Given the description of an element on the screen output the (x, y) to click on. 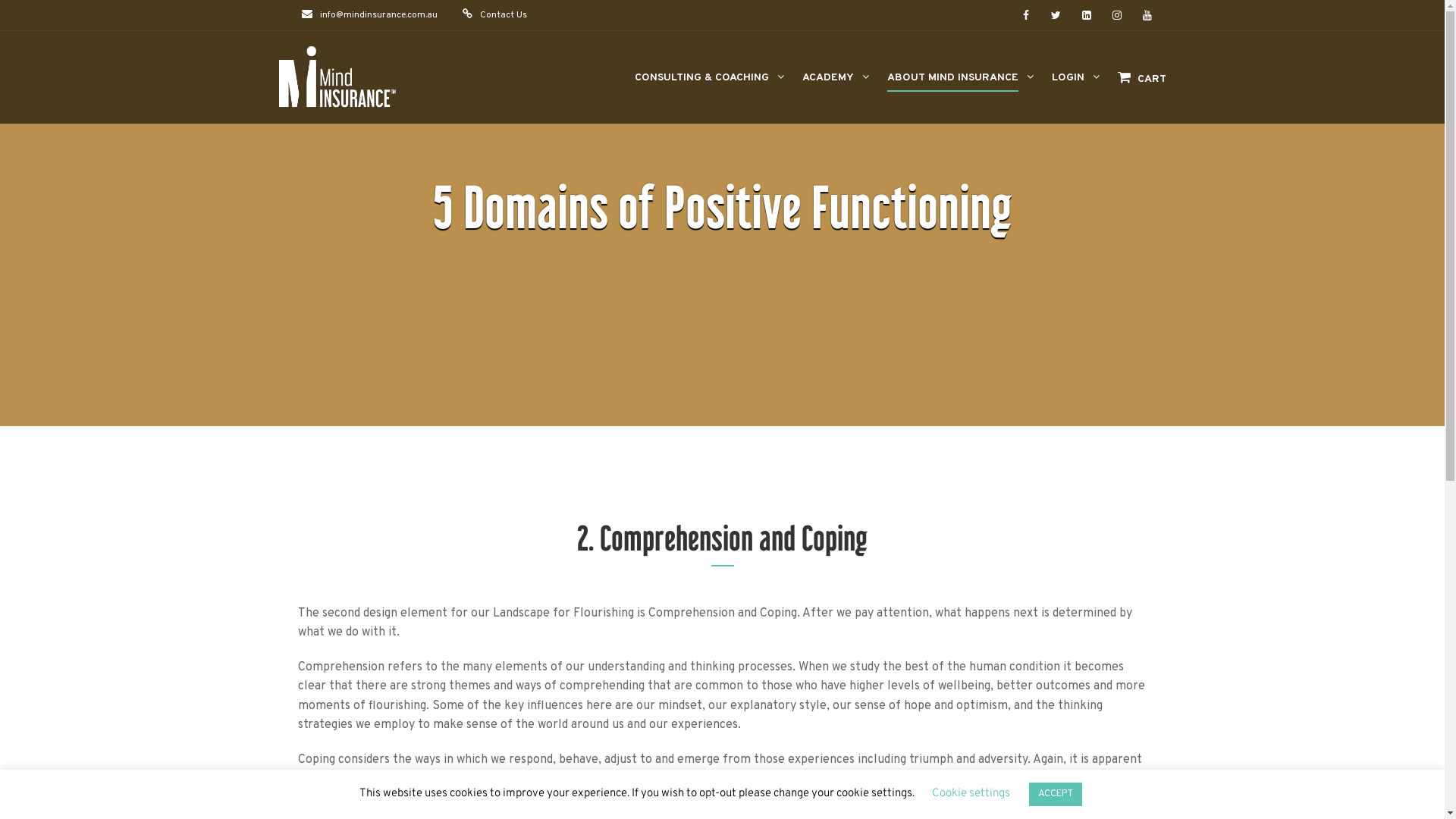
CONSULTING & COACHING Element type: text (700, 84)
ABOUT MIND INSURANCE Element type: text (952, 84)
Contact Us Element type: text (502, 15)
info@mindinsurance.com.au Element type: text (378, 15)
Cookie settings Element type: text (970, 793)
ACADEMY Element type: text (828, 84)
LOGIN Element type: text (1066, 84)
ACCEPT Element type: text (1054, 794)
CART Element type: text (1134, 85)
